Given the description of an element on the screen output the (x, y) to click on. 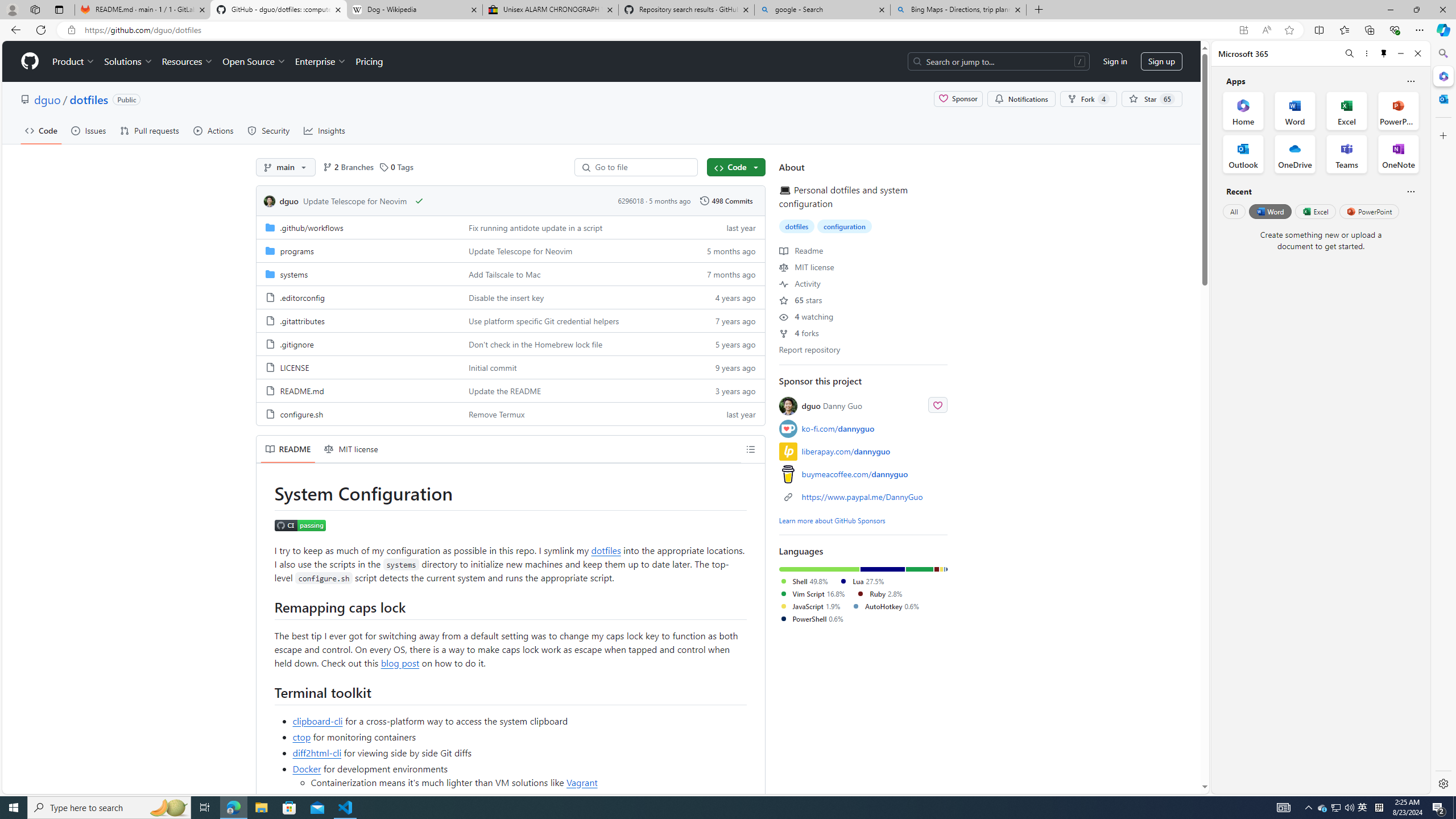
Is this helpful? (1410, 191)
Excel (1315, 210)
7 years ago (725, 320)
Code (41, 130)
.gitattributes, (File) (358, 320)
CI status (299, 526)
liberapay (787, 451)
All (1233, 210)
Report repository (809, 348)
App available. Install GitHub (1243, 29)
MIT license (351, 449)
